Given the description of an element on the screen output the (x, y) to click on. 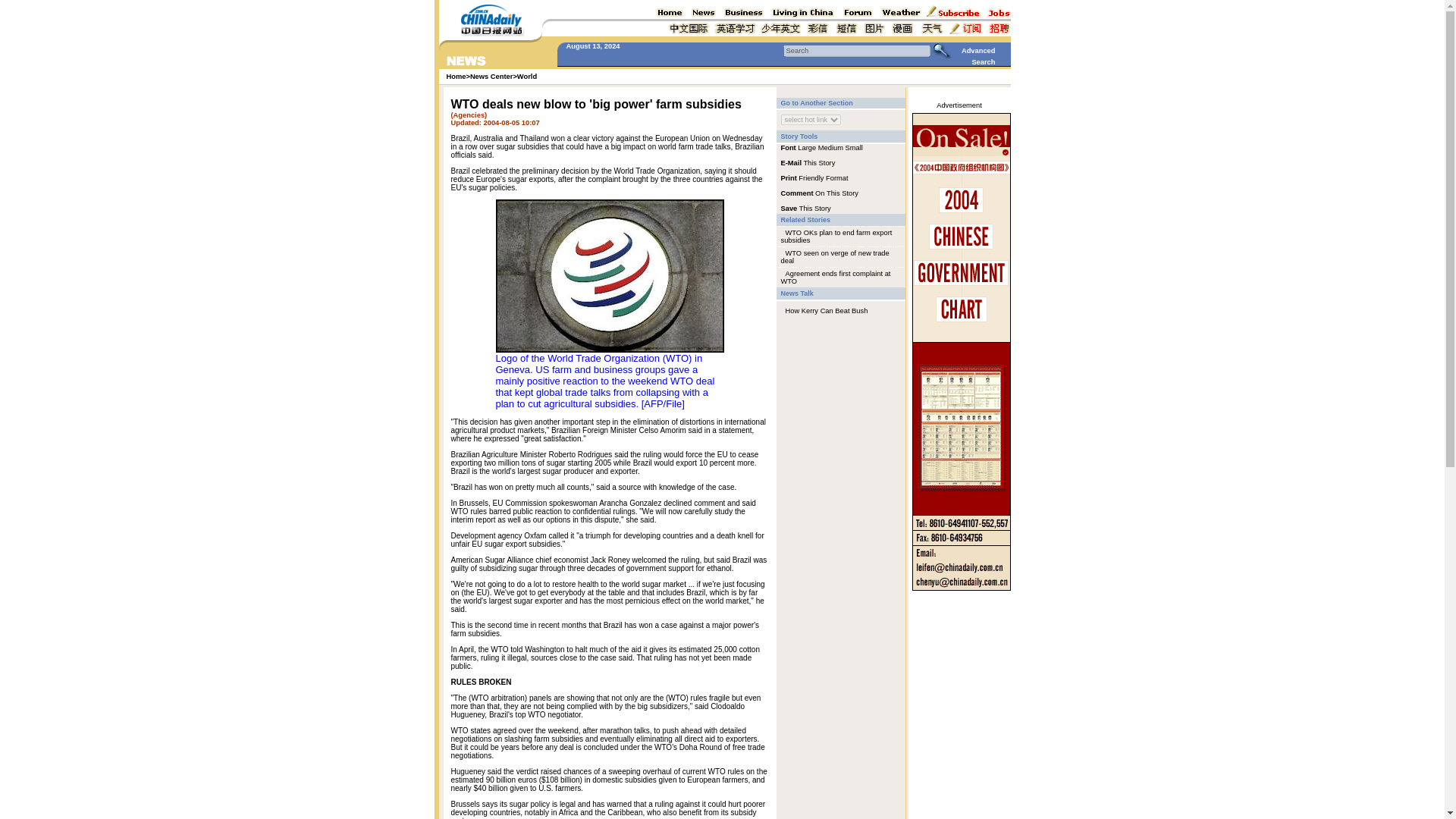
E-Mail This Story (807, 162)
World (526, 76)
WTO seen on verge of new trade deal (834, 256)
Comment On This Story (819, 192)
WTO OKs plan to end farm export subsidies (836, 236)
Search (856, 50)
Print Friendly Format (814, 176)
Small (854, 147)
Agreement ends first complaint at WTO (835, 277)
Medium (830, 147)
